Given the description of an element on the screen output the (x, y) to click on. 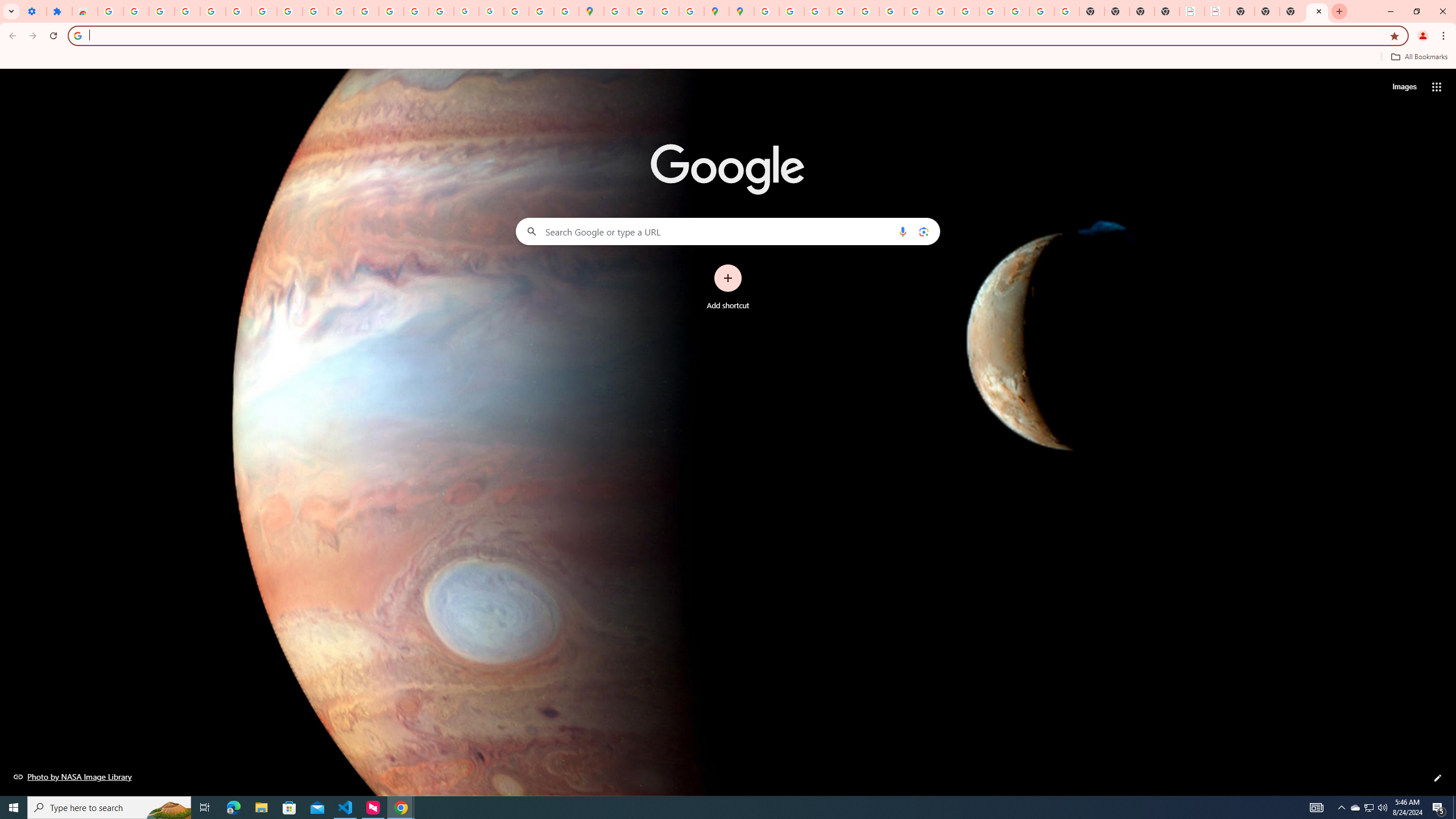
https://scholar.google.com/ (365, 11)
Privacy Help Center - Policies Help (841, 11)
New Tab (1166, 11)
Search Google or type a URL (727, 230)
Settings - On startup (34, 11)
Bookmarks (728, 58)
Google Maps (590, 11)
